Given the description of an element on the screen output the (x, y) to click on. 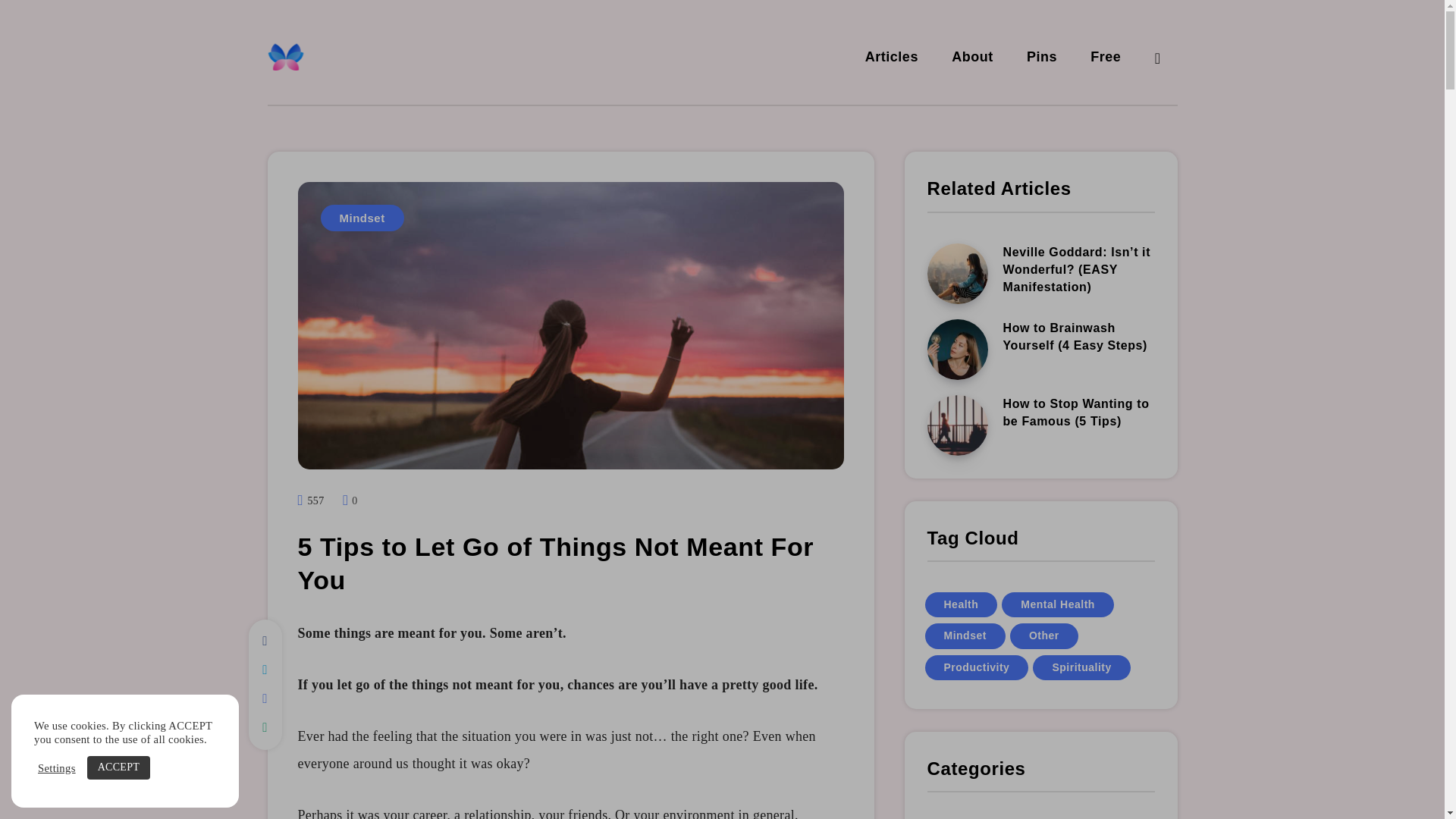
Views (311, 500)
Pins (1041, 58)
0 (349, 500)
Mindset (361, 217)
Spirituality (1080, 667)
About (972, 58)
Go to comments (349, 500)
Health (960, 604)
Free (1105, 58)
Articles (891, 58)
Other (1044, 635)
Mental Health (1057, 604)
Mindset (965, 635)
Productivity (976, 667)
